Given the description of an element on the screen output the (x, y) to click on. 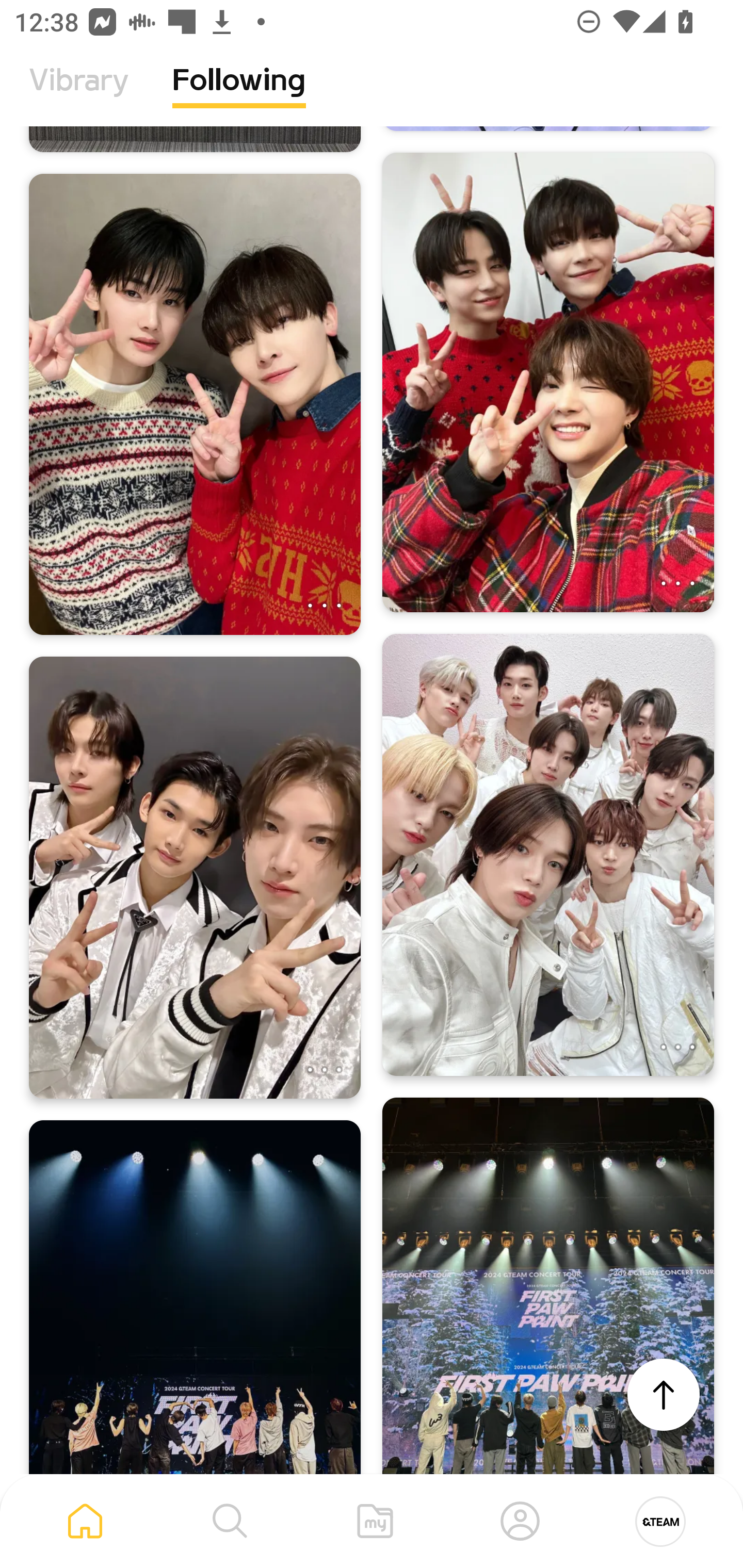
Vibrary (78, 95)
Following (239, 95)
